Given the description of an element on the screen output the (x, y) to click on. 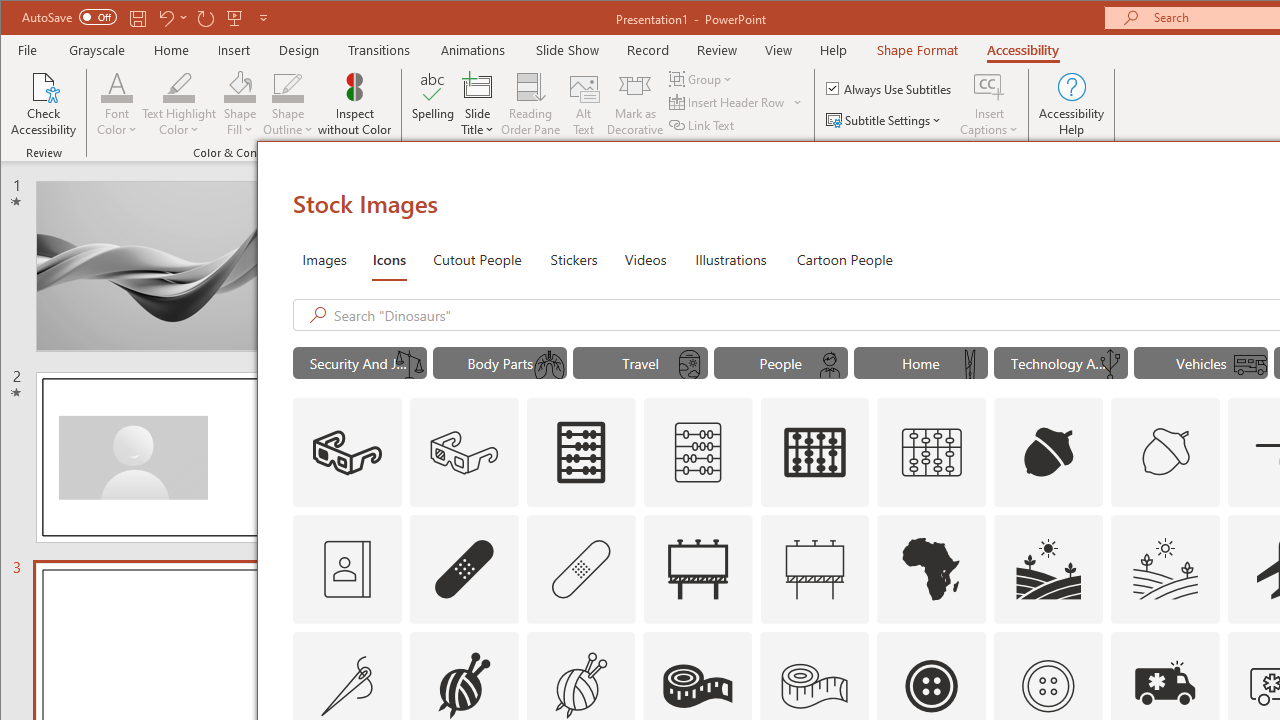
AutomationID: Icons_Abacus (580, 452)
Always Use Subtitles (890, 88)
Insert Header Row (728, 101)
Accessibility Help (1071, 104)
Subtitle Settings (885, 119)
Cutout People (477, 258)
